Given the description of an element on the screen output the (x, y) to click on. 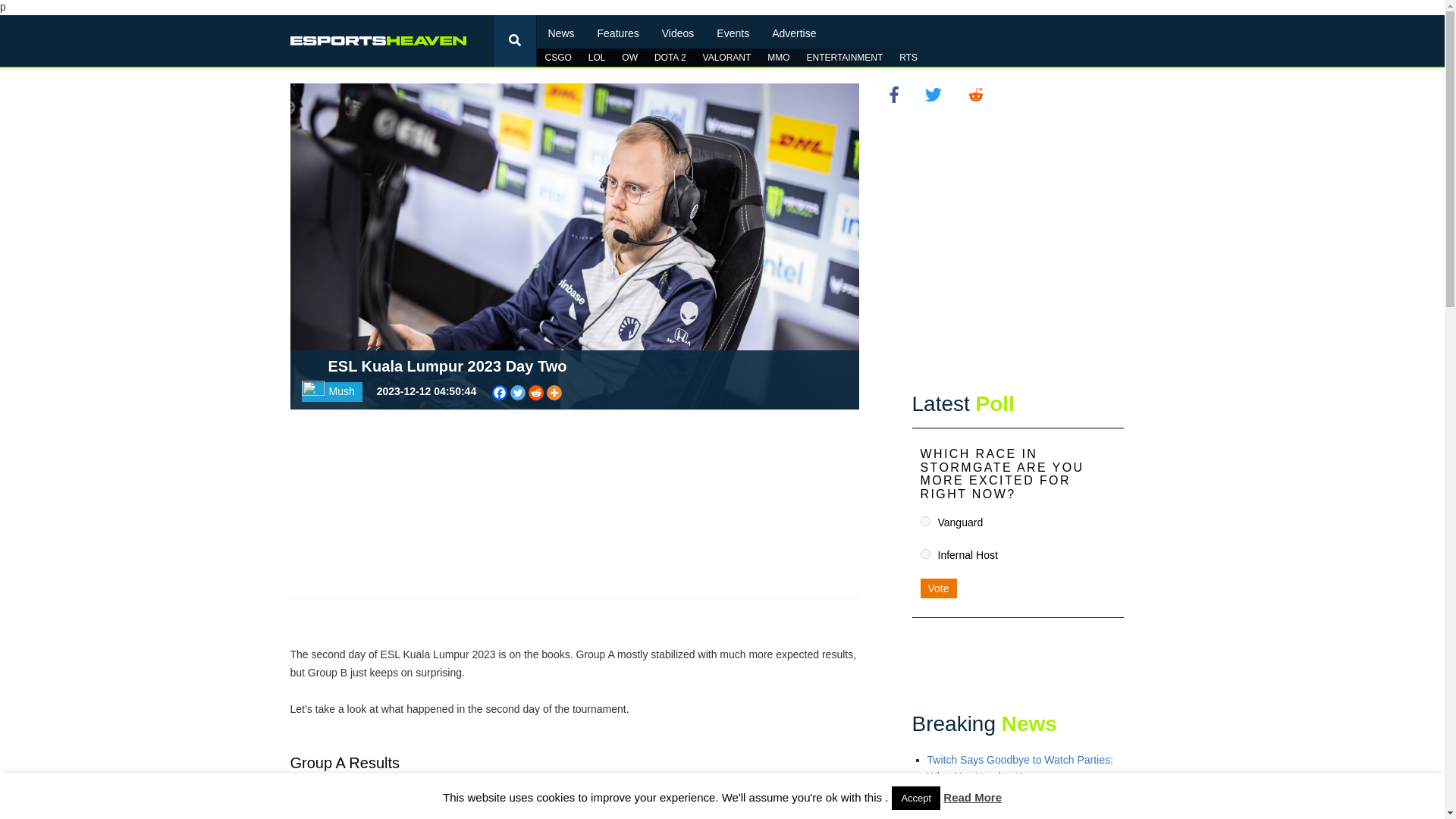
Read More (972, 797)
Vote (938, 588)
More (554, 392)
Twitter (518, 392)
VALORANT (726, 57)
OW (629, 57)
Advertise (793, 27)
46 (925, 521)
News (561, 27)
DOTA 2 (670, 57)
CSGO (558, 57)
LCK series last upwards of 6 hours due to technical issues (1025, 811)
Twitch Says Goodbye to Watch Parties: What You Need to Know (1019, 767)
Facebook (499, 392)
Mush (331, 392)
